Given the description of an element on the screen output the (x, y) to click on. 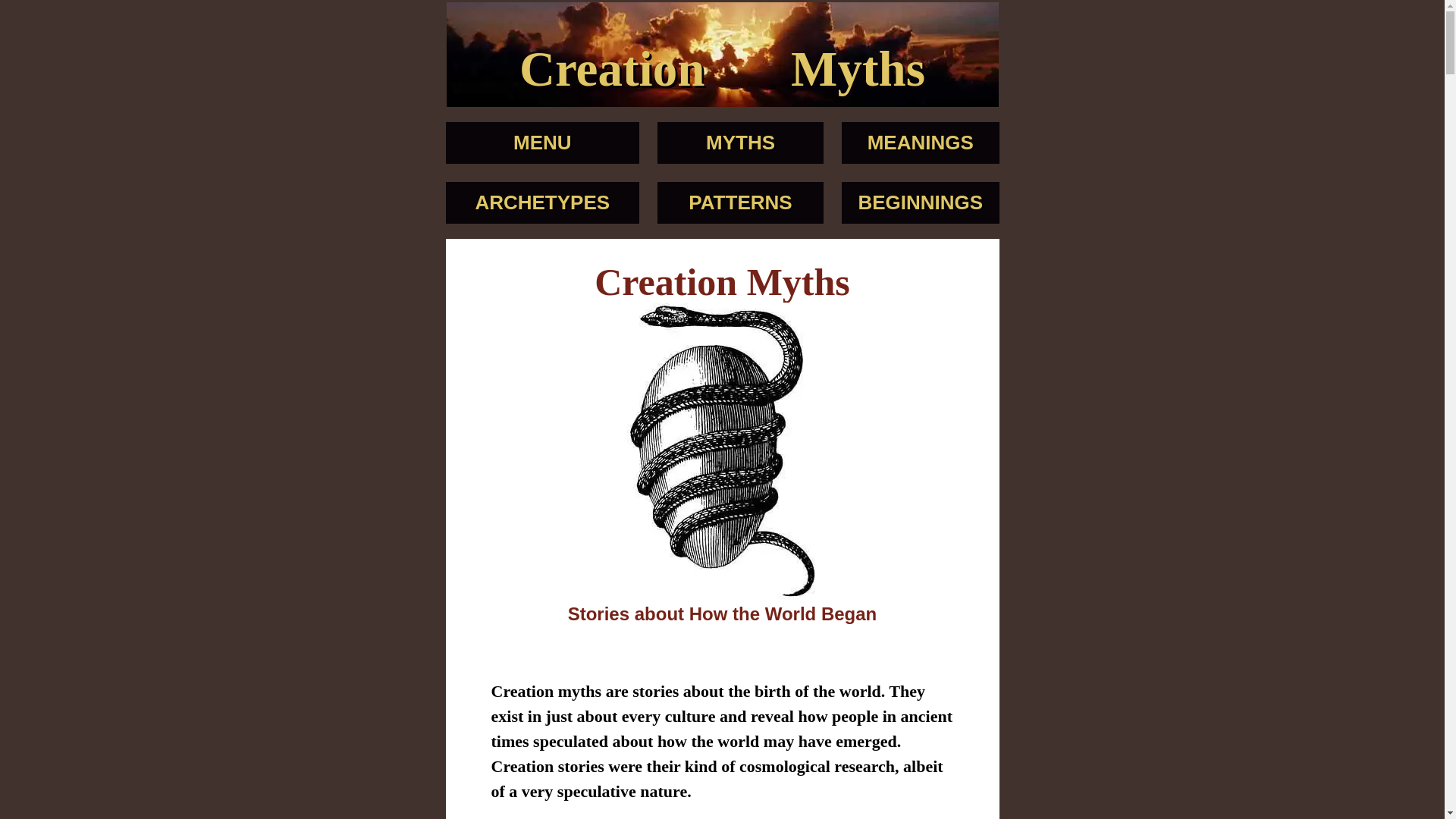
BEGINNINGS (919, 201)
MENU (542, 142)
MYTHS (740, 142)
ARCHETYPES (542, 201)
Creation       Myths (721, 68)
MEANINGS (920, 142)
PATTERNS (740, 201)
